Given the description of an element on the screen output the (x, y) to click on. 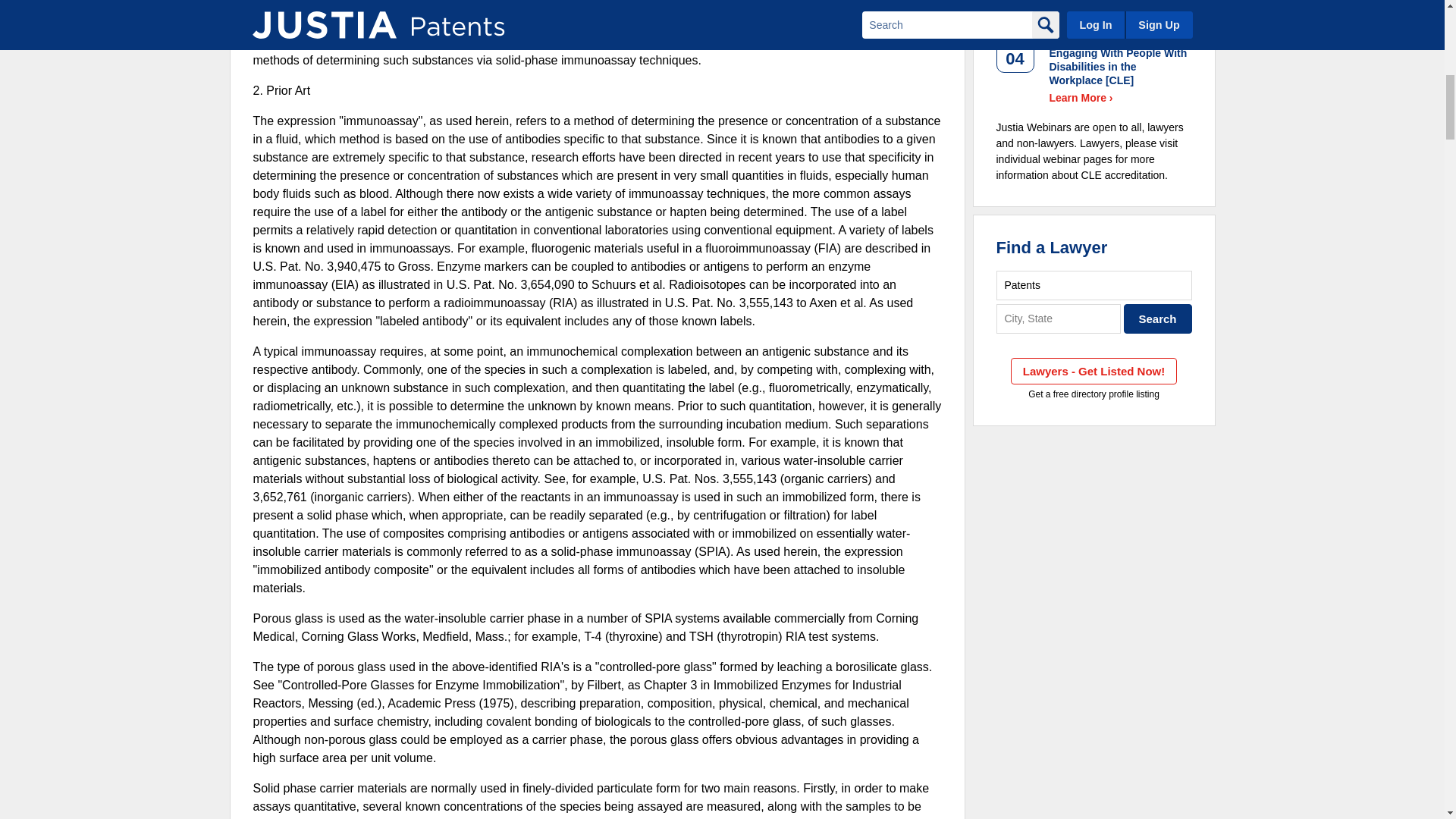
Patents (1093, 285)
City, State (1058, 318)
Legal Issue or Lawyer Name (1093, 285)
Search (1158, 318)
Search (1158, 318)
